Given the description of an element on the screen output the (x, y) to click on. 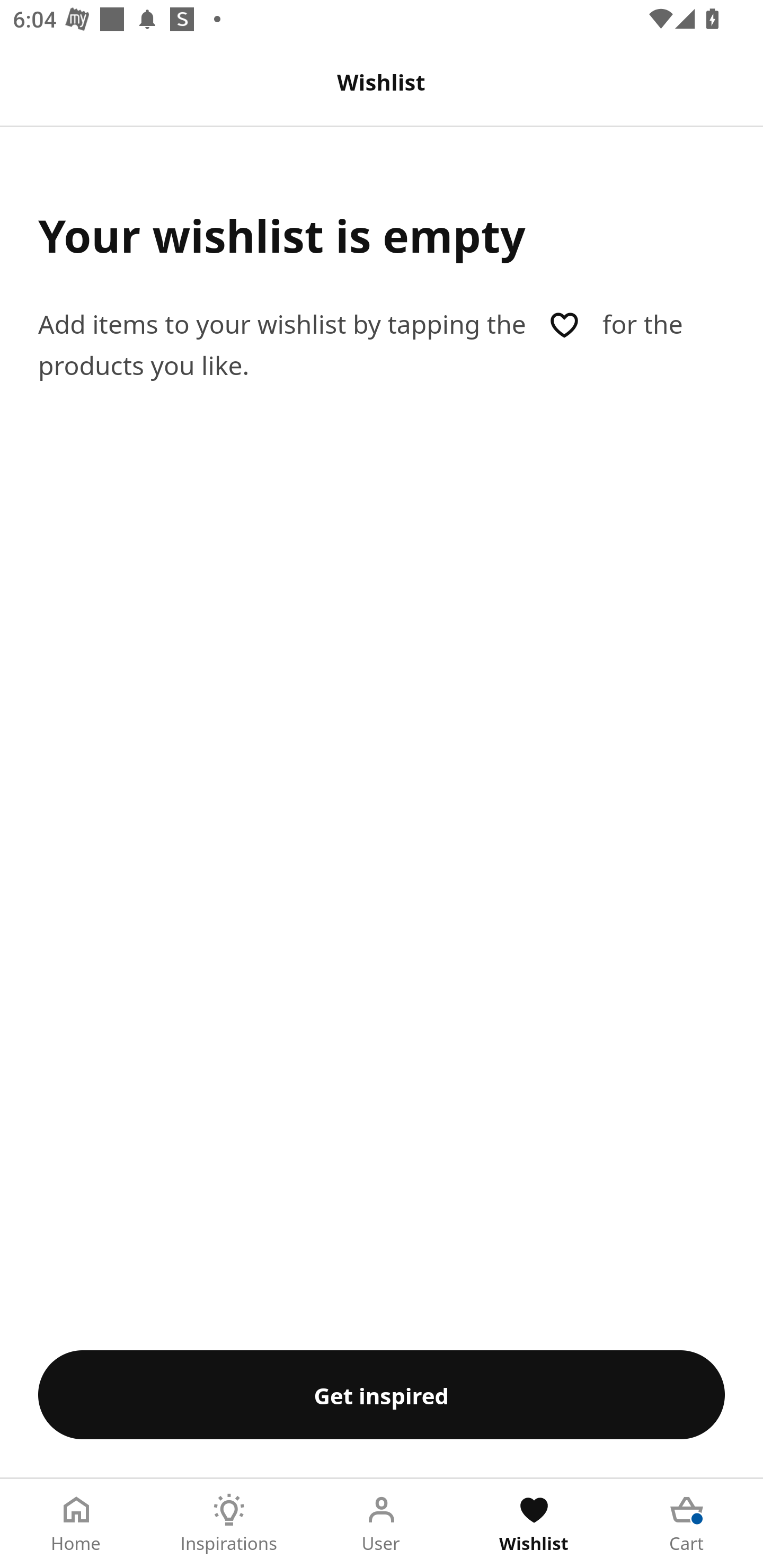
Get inspired (381, 1394)
Home
Tab 1 of 5 (76, 1522)
Inspirations
Tab 2 of 5 (228, 1522)
User
Tab 3 of 5 (381, 1522)
Wishlist
Tab 4 of 5 (533, 1522)
Cart
Tab 5 of 5 (686, 1522)
